Given the description of an element on the screen output the (x, y) to click on. 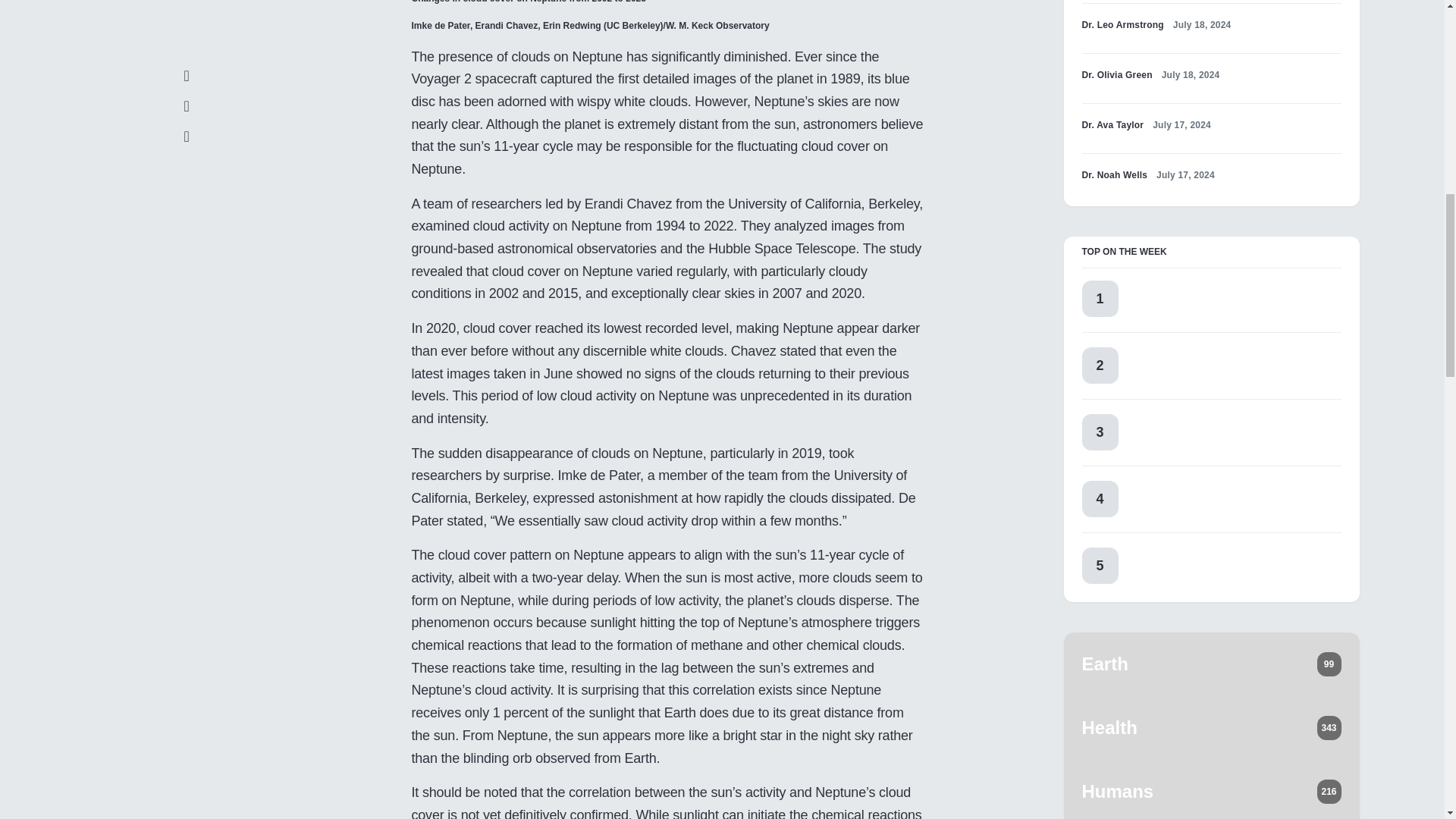
View all posts by Dr. Olivia Green (1116, 74)
View all posts by Dr. Ava Taylor (1111, 124)
View all posts by Dr. Leo Armstrong (1122, 24)
View all posts by Dr. Noah Wells (1114, 174)
